Given the description of an element on the screen output the (x, y) to click on. 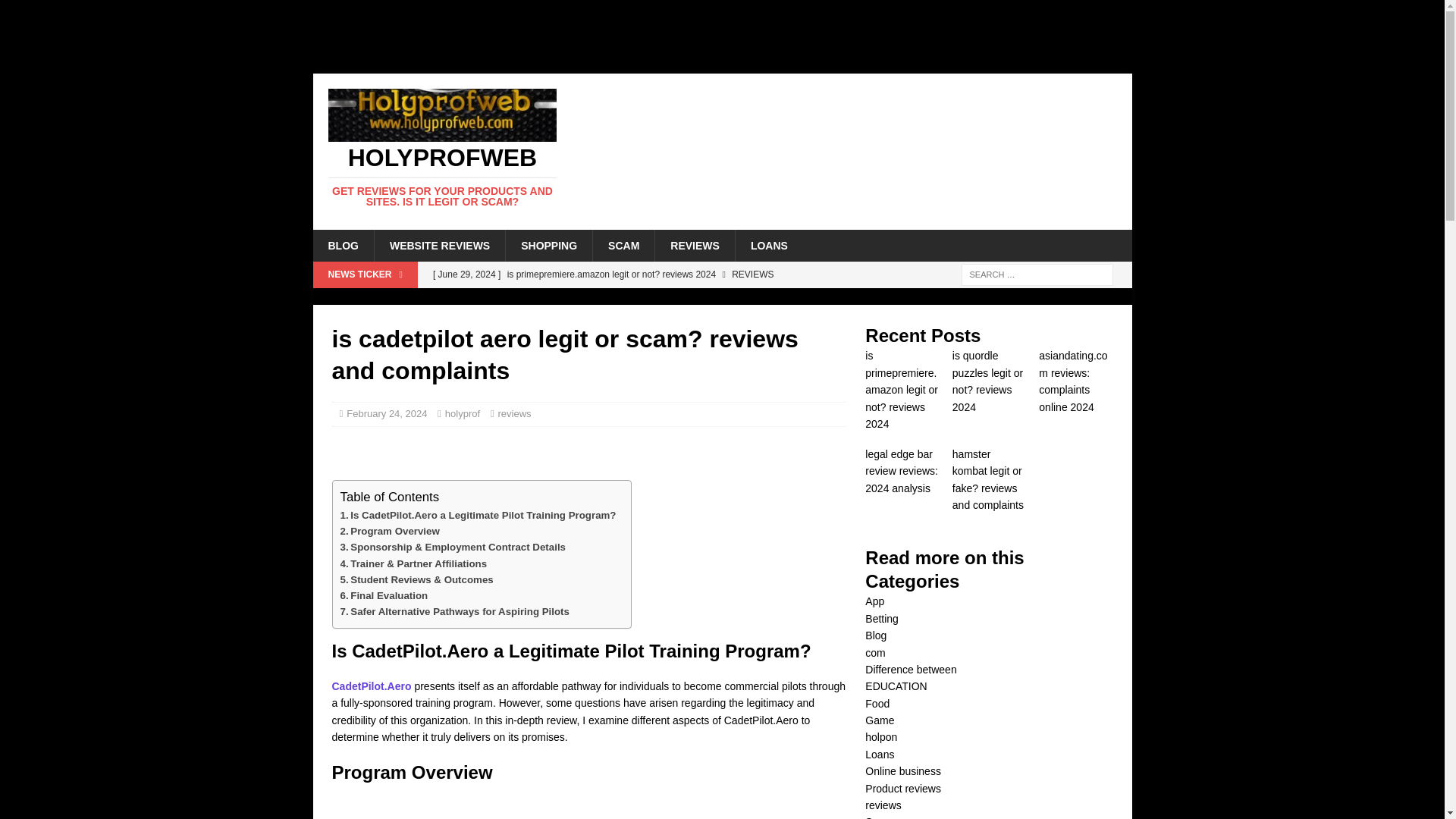
Home (13, 8)
is quordle puzzles legit or not? reviews 2024 (634, 299)
Search (56, 11)
Home (326, 296)
February 24, 2024 (386, 413)
CadetPilot.Aero (371, 686)
holyprof (462, 413)
Program Overview (389, 530)
reviews (514, 413)
